Given the description of an element on the screen output the (x, y) to click on. 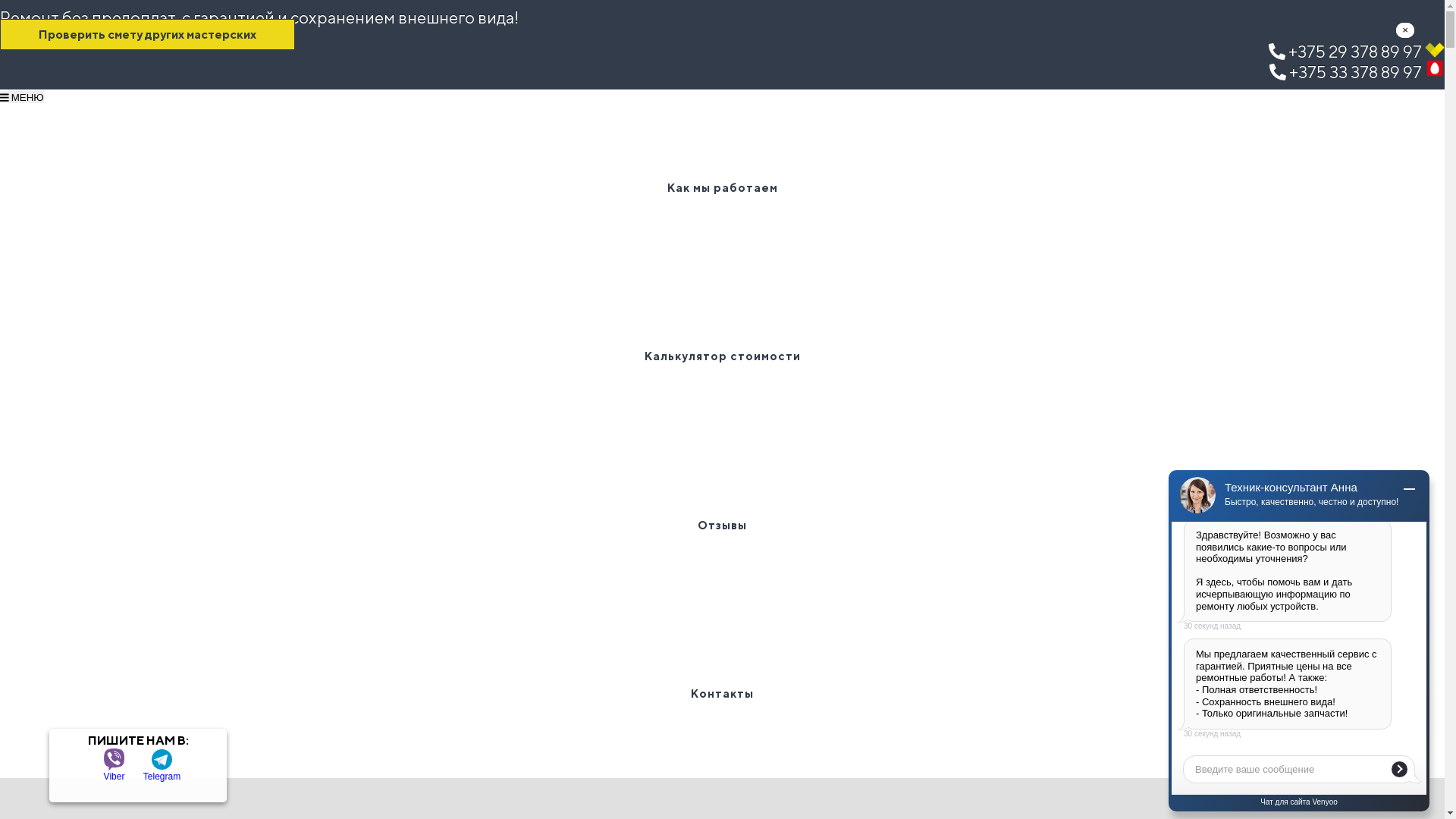
+375 33 378 89 97 Element type: text (1356, 71)
Telegram Element type: text (162, 758)
Viber Element type: text (113, 758)
+375 29 378 89 97 Element type: text (1356, 51)
